Given the description of an element on the screen output the (x, y) to click on. 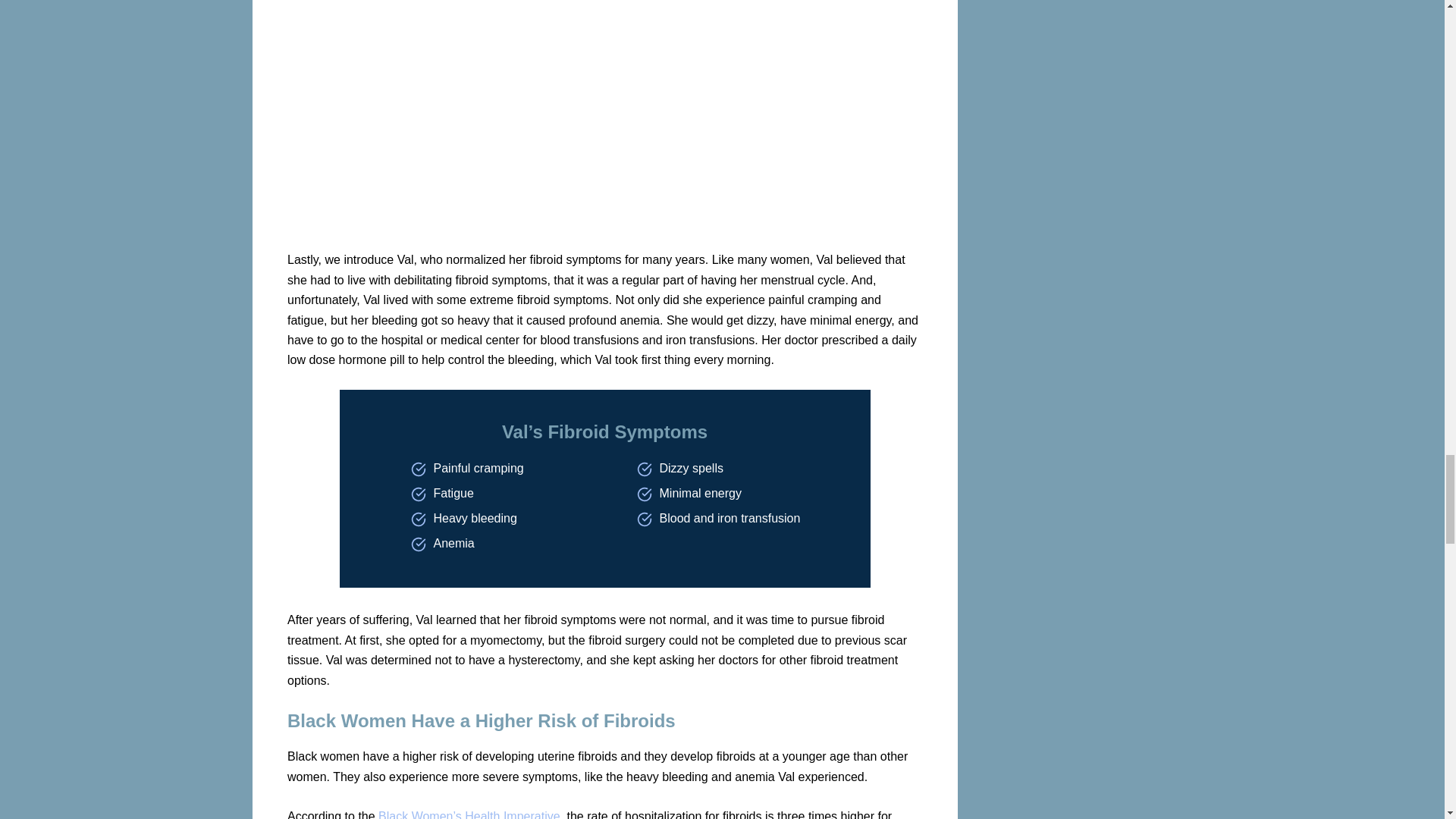
YouTube video player (498, 124)
